Given the description of an element on the screen output the (x, y) to click on. 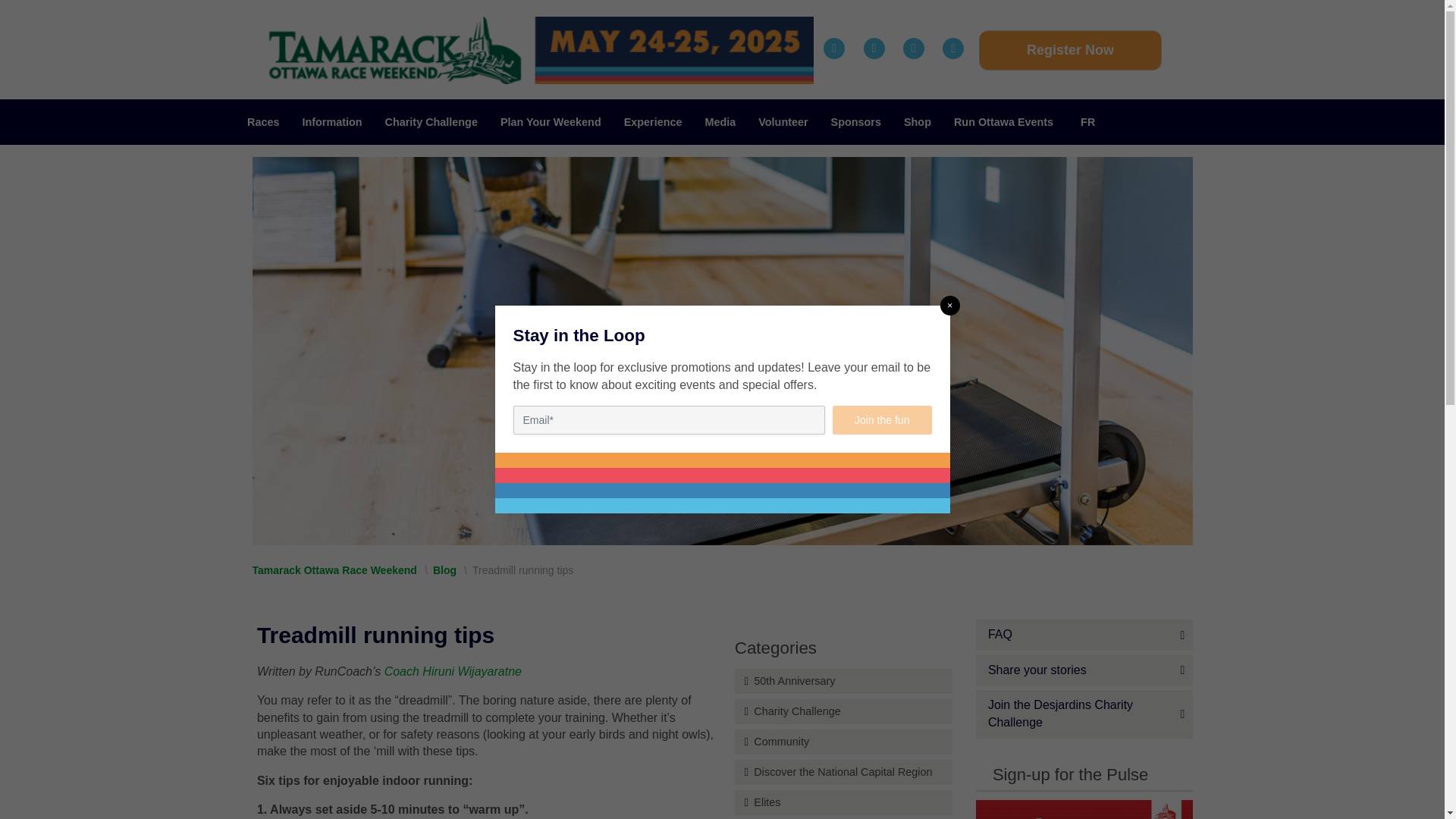
Information (330, 121)
Races (262, 121)
Sign-up for the Pulse (1083, 809)
Register Now (1069, 50)
Plan Your Weekend (550, 121)
2 (538, 50)
Charity Challenge (431, 121)
Join the fun (881, 419)
